Given the description of an element on the screen output the (x, y) to click on. 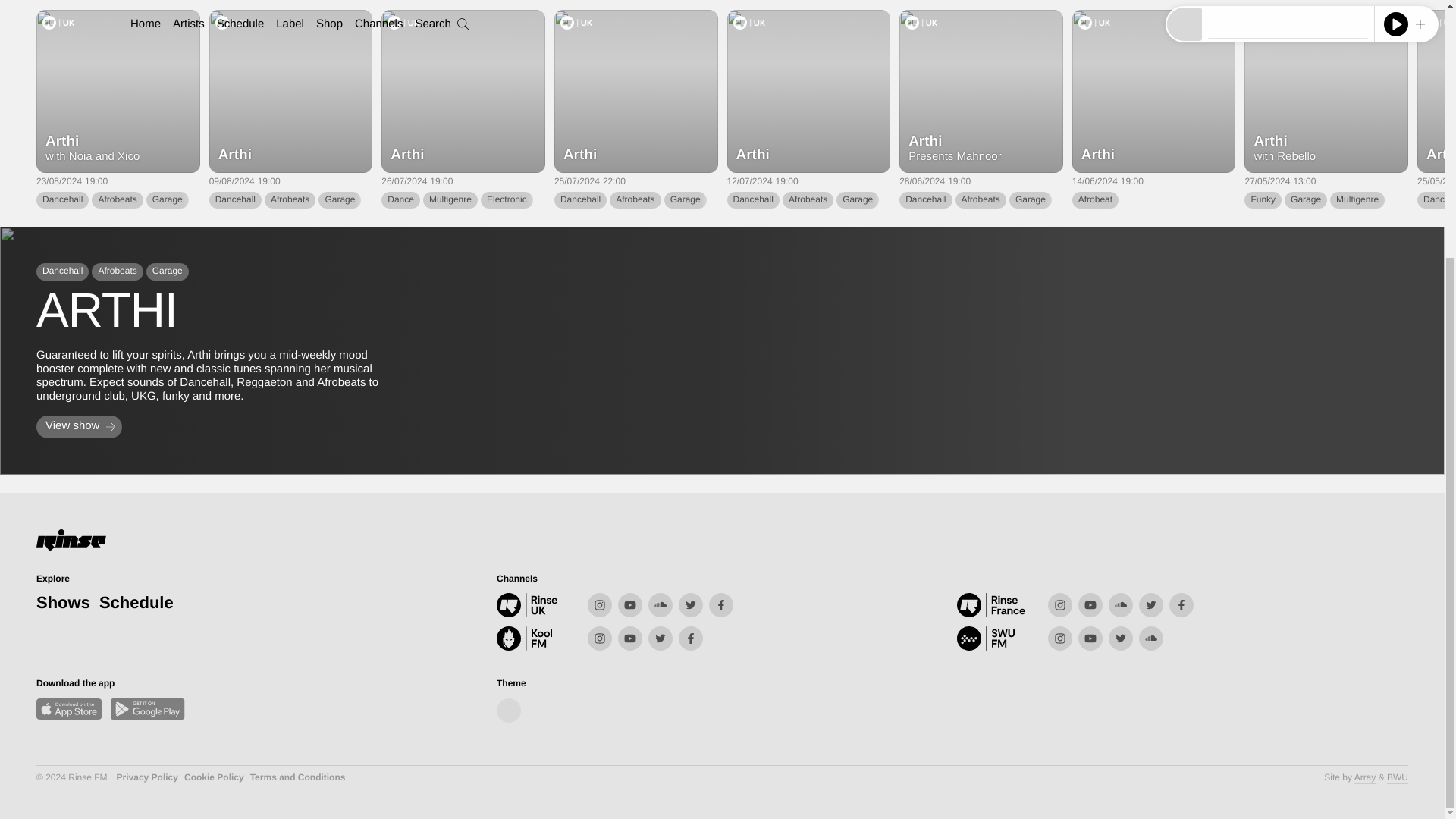
Afrobeats (289, 200)
Dancehall (580, 200)
Garage (1030, 200)
Arthi (807, 90)
Dancehall (752, 200)
Arthi (1153, 90)
Afrobeats (635, 200)
Arthi (290, 90)
Afrobeats (116, 200)
